Given the description of an element on the screen output the (x, y) to click on. 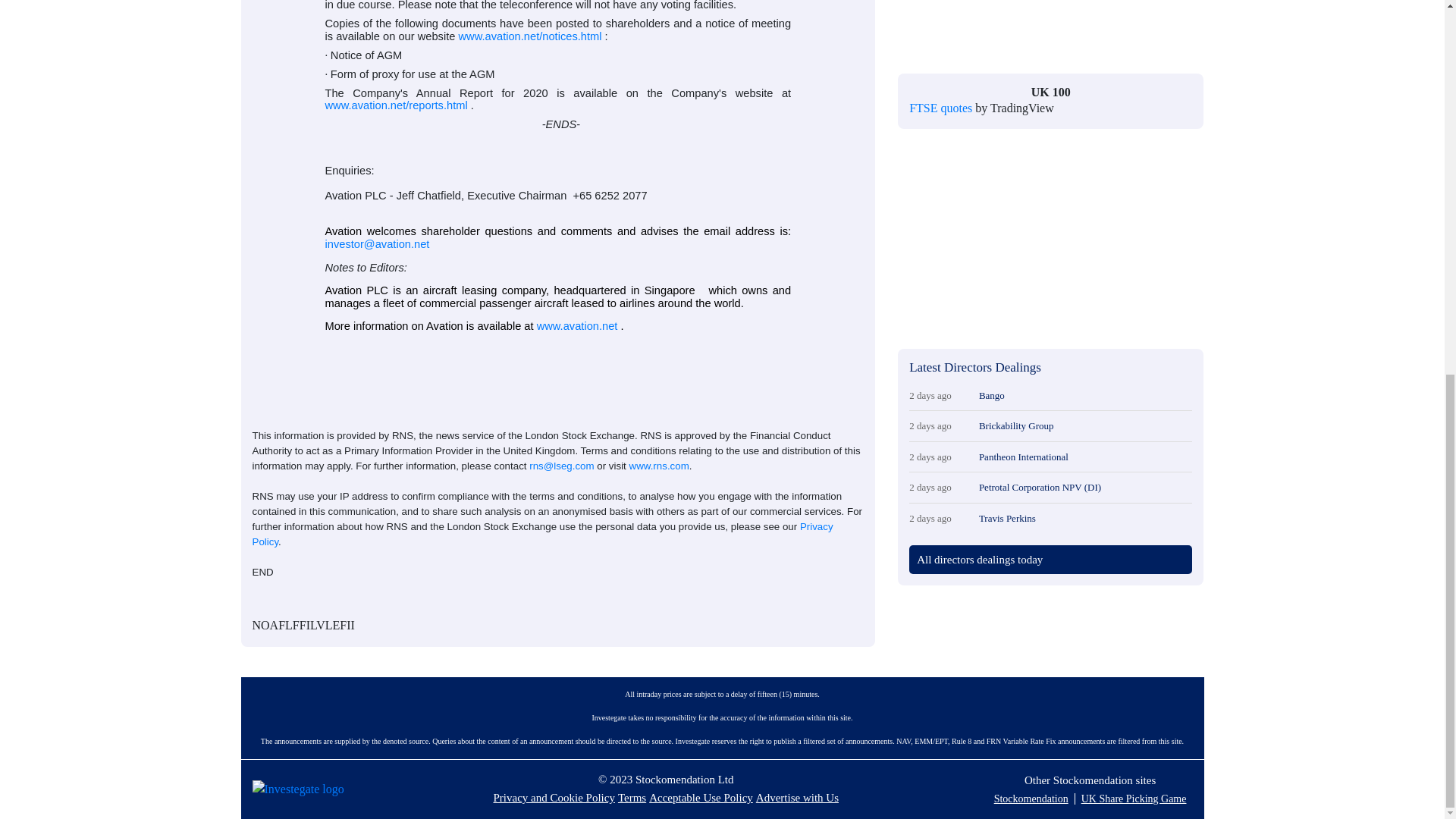
www.avation.net (577, 326)
Privacy Policy (541, 533)
All directors dealings today (979, 559)
Travis Perkins (1085, 518)
www.rns.com (658, 465)
Brickability Group (1085, 426)
Pantheon International (1085, 457)
FTSE quotes (940, 107)
Privacy and Cookie Policy (553, 797)
Bango (1085, 395)
